Given the description of an element on the screen output the (x, y) to click on. 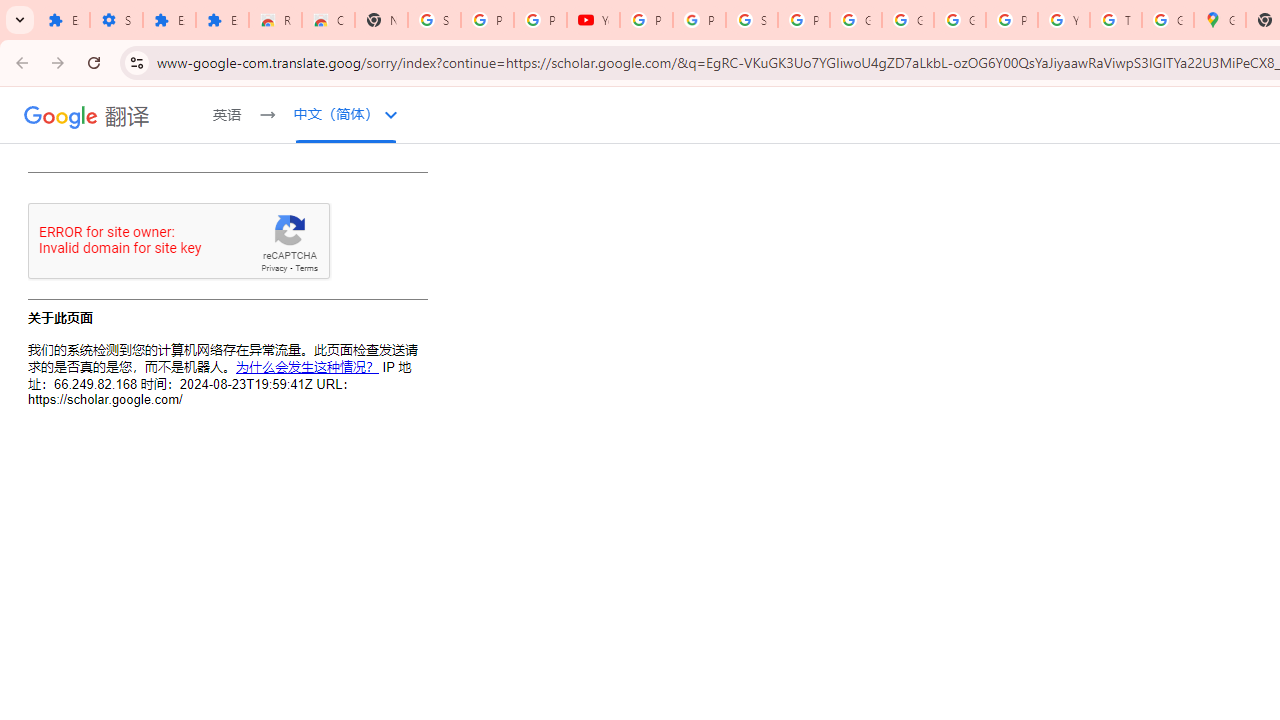
Extensions (63, 20)
Extensions (222, 20)
YouTube (593, 20)
